Given the description of an element on the screen output the (x, y) to click on. 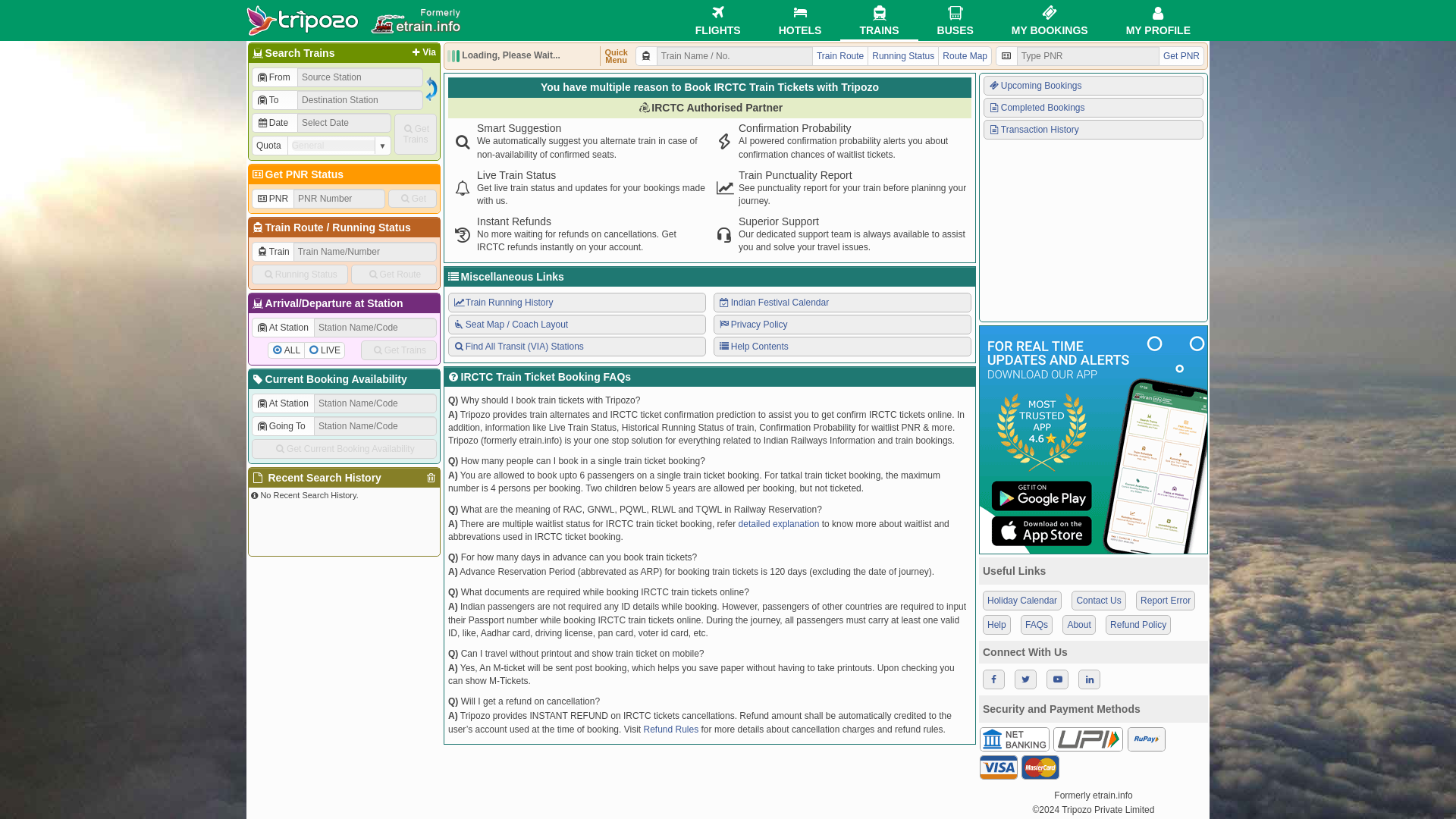
Running Status (299, 274)
Help Contents (842, 346)
Get PNR (1181, 55)
Get (412, 198)
Holiday Calendar (1021, 600)
detailed explanation (778, 523)
Privacy Policy (842, 324)
Refund Rules (670, 728)
TRAINS (878, 20)
MY PROFILE (1158, 20)
HOTELS (800, 20)
Train Route (293, 227)
Get PNR Status (296, 174)
MY BOOKINGS (1049, 20)
FAQs (1036, 624)
